Given the description of an element on the screen output the (x, y) to click on. 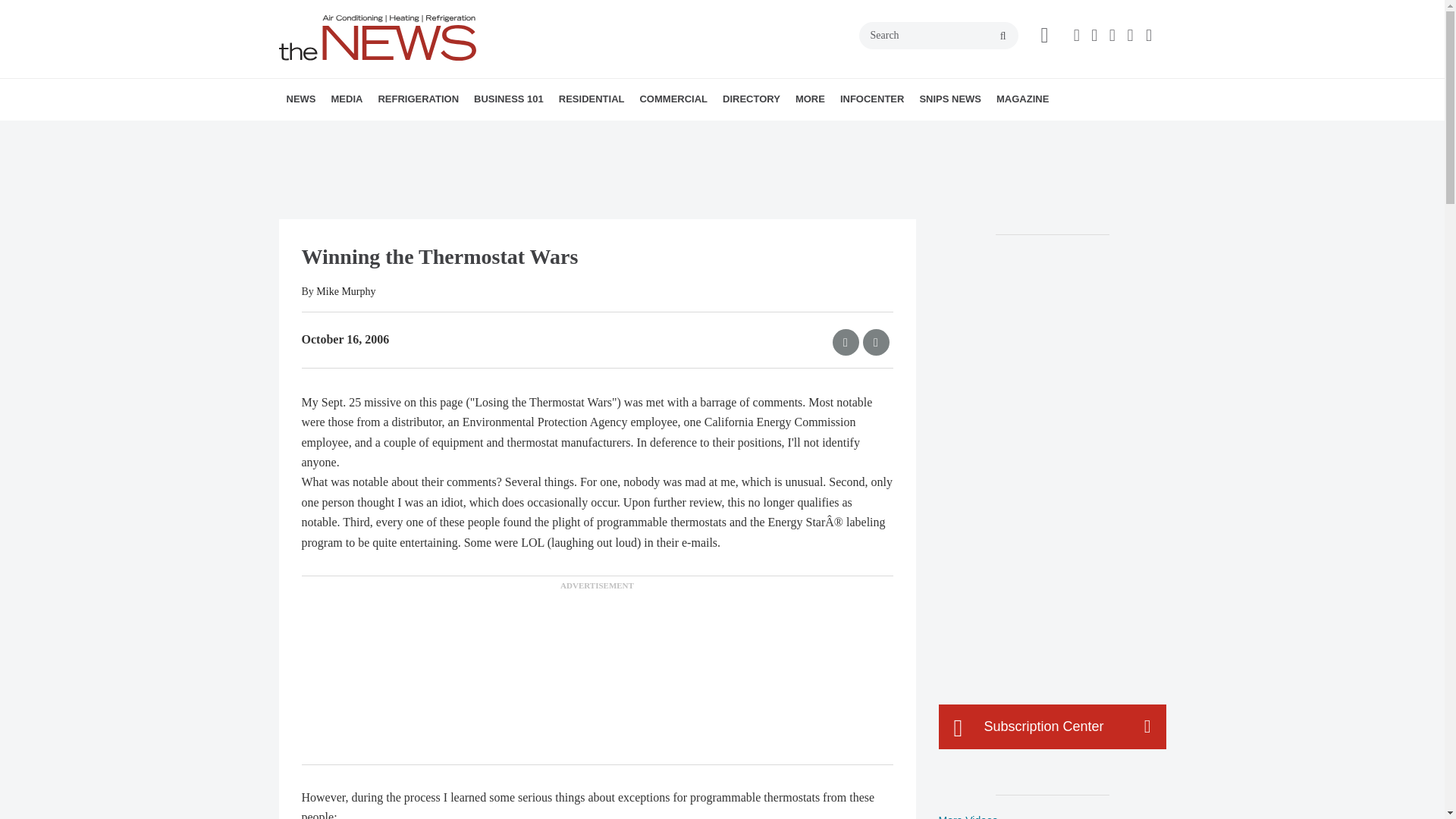
Search (938, 35)
search (1002, 36)
MEDIA (346, 98)
NEW HVAC PRODUCTS (380, 132)
AHR EXPO 2024 VIDEOS (424, 132)
PODCASTS (430, 132)
THE NEWS HVACR QUIZ (445, 132)
WEBINARS (436, 132)
REFRIGERANTS (464, 132)
ONLINE POLL (452, 132)
